Given the description of an element on the screen output the (x, y) to click on. 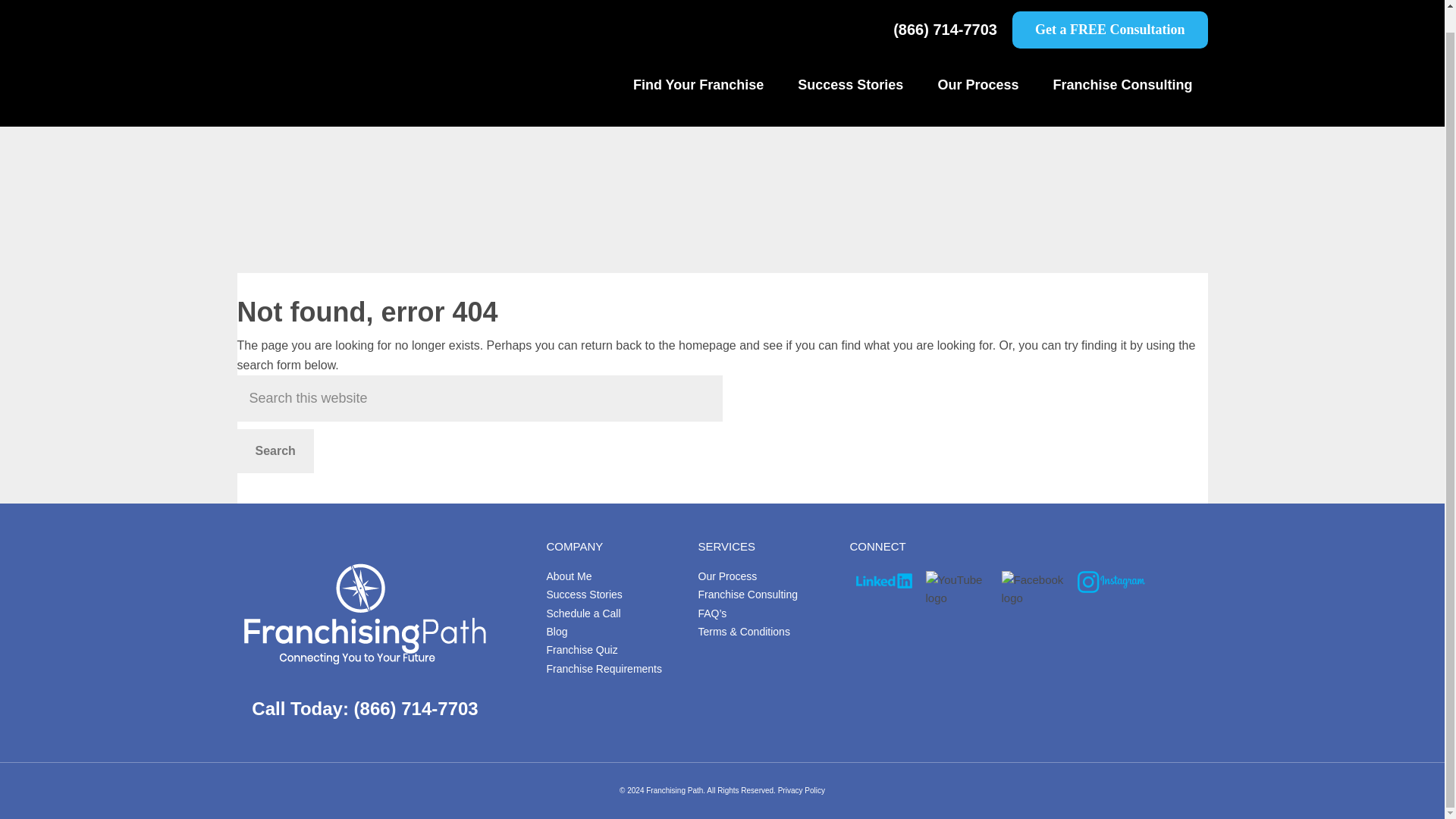
Find Your Franchise (697, 62)
homepage (707, 345)
Success Stories (850, 62)
Schedule a Call (583, 613)
Search (274, 451)
Franchise Requirements (604, 668)
Search (274, 451)
Blog (556, 631)
Search (274, 451)
Our Process (977, 62)
